Given the description of an element on the screen output the (x, y) to click on. 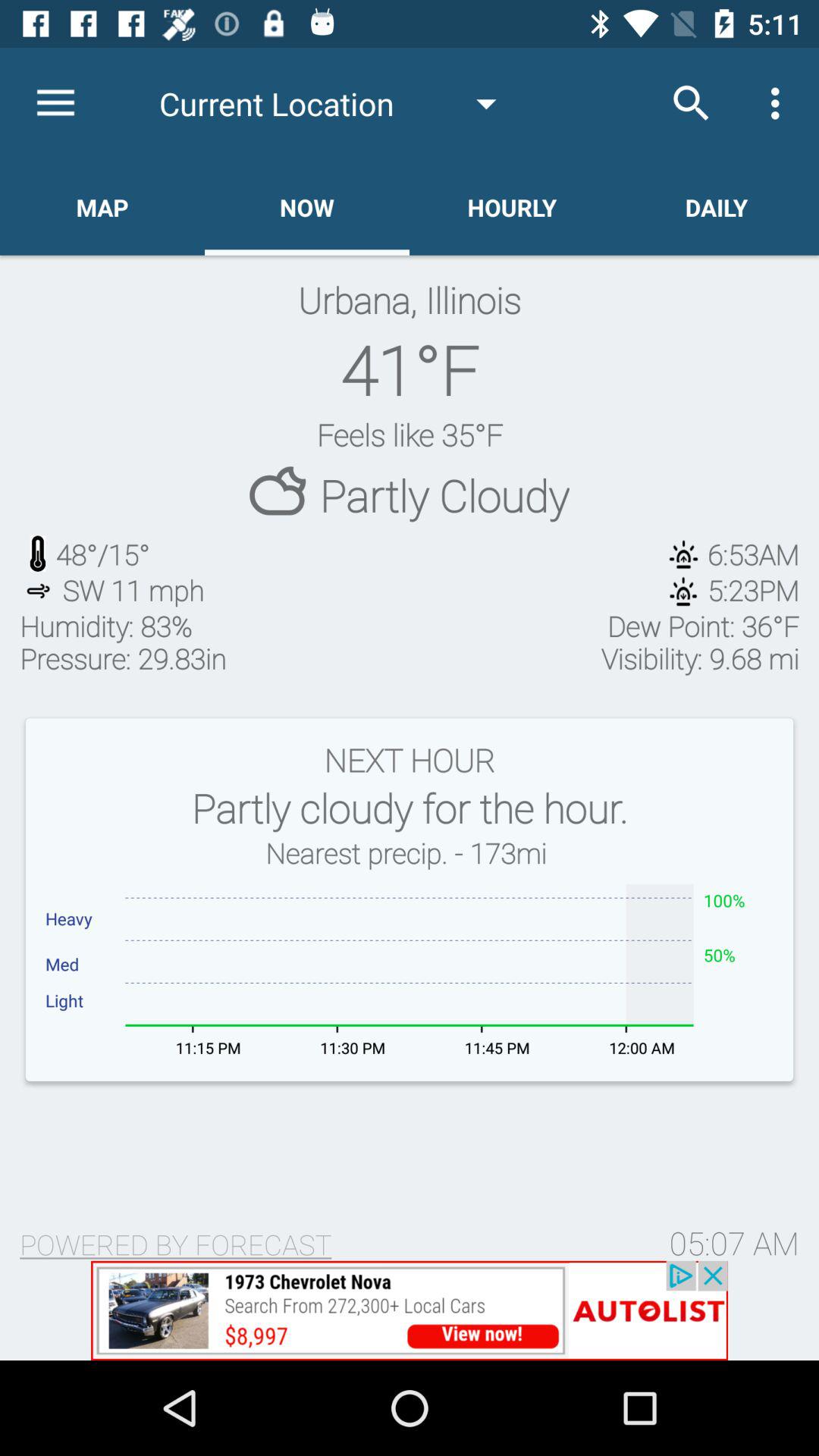
visit advertised website (409, 1310)
